Given the description of an element on the screen output the (x, y) to click on. 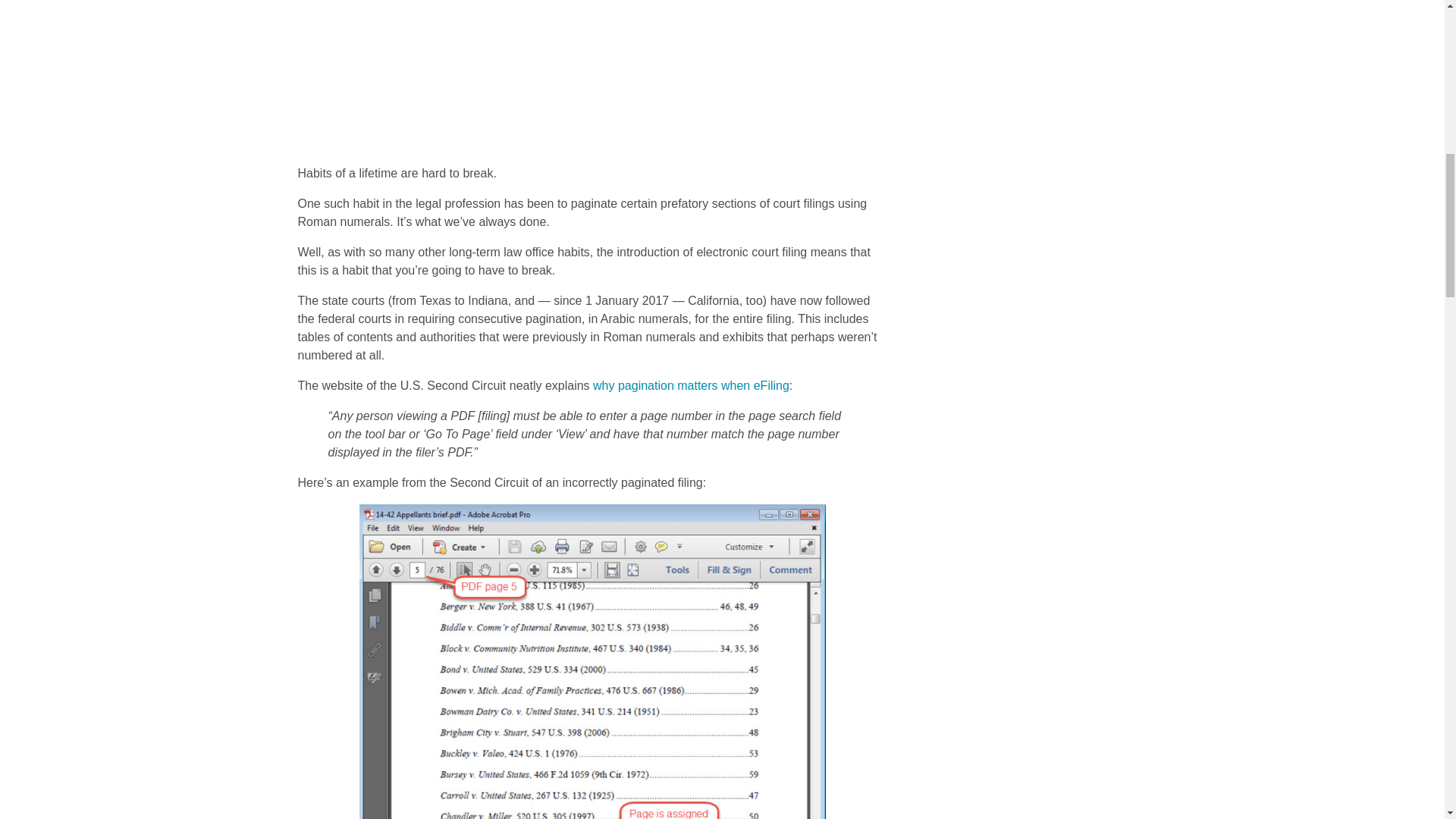
why pagination matters when eFiling (690, 385)
